Given the description of an element on the screen output the (x, y) to click on. 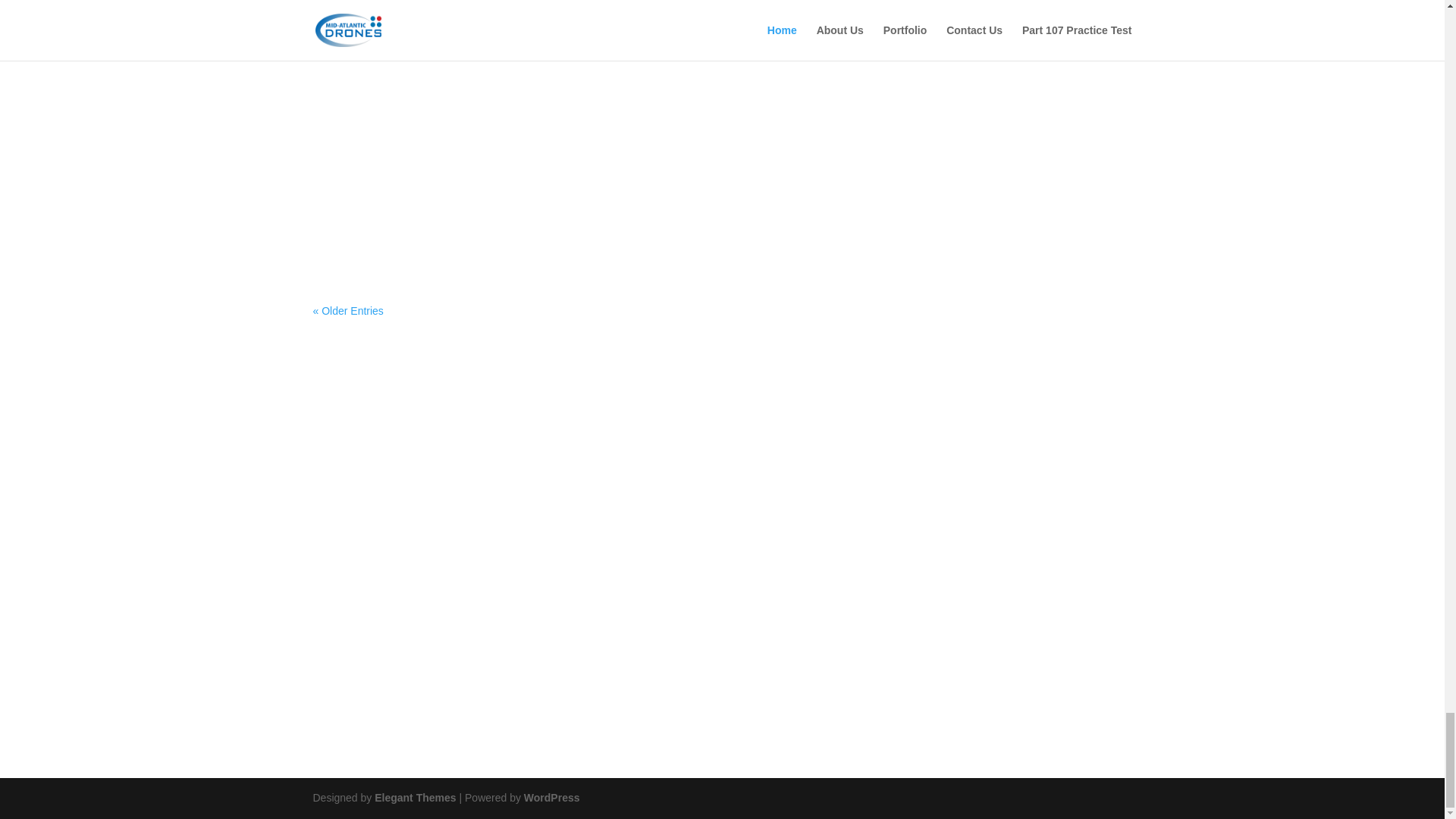
Elegant Themes (414, 797)
WordPress (551, 797)
Premium WordPress Themes (414, 797)
infoatmidatlanticdrones (398, 603)
